Given the description of an element on the screen output the (x, y) to click on. 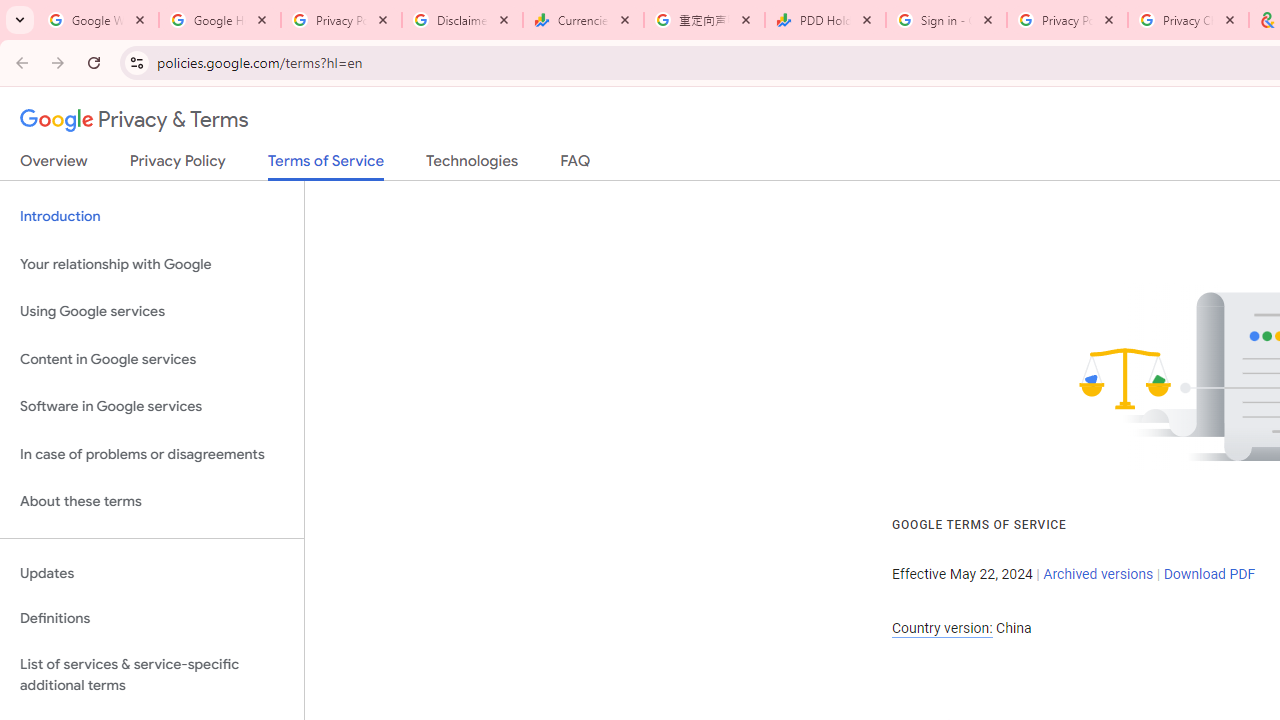
Definitions (152, 619)
Updates (152, 573)
Download PDF (1209, 574)
